Given the description of an element on the screen output the (x, y) to click on. 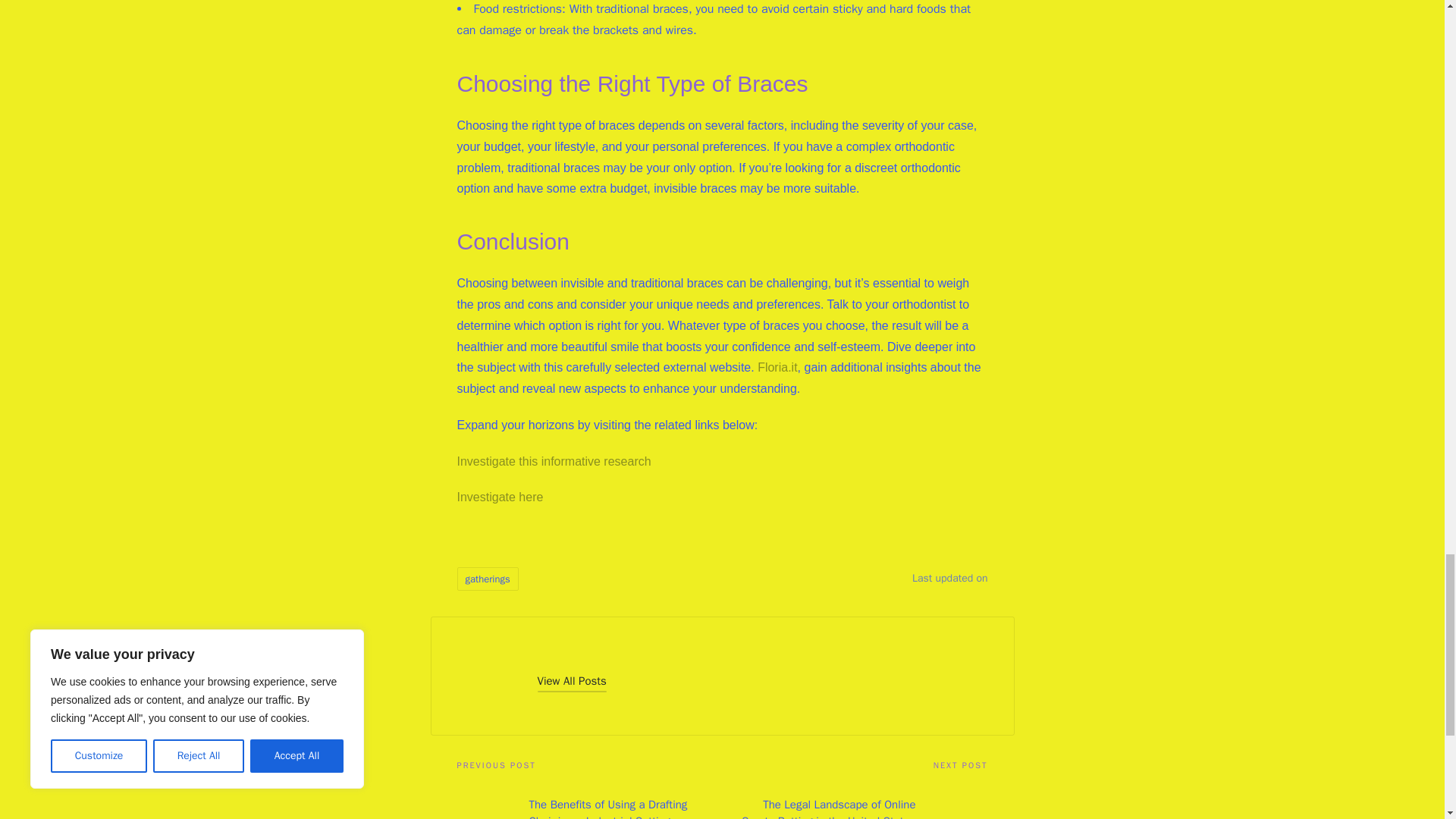
Investigate here (500, 496)
Floria.it (776, 367)
Investigate this informative research (553, 461)
View All Posts (571, 680)
gatherings (487, 578)
